Given the description of an element on the screen output the (x, y) to click on. 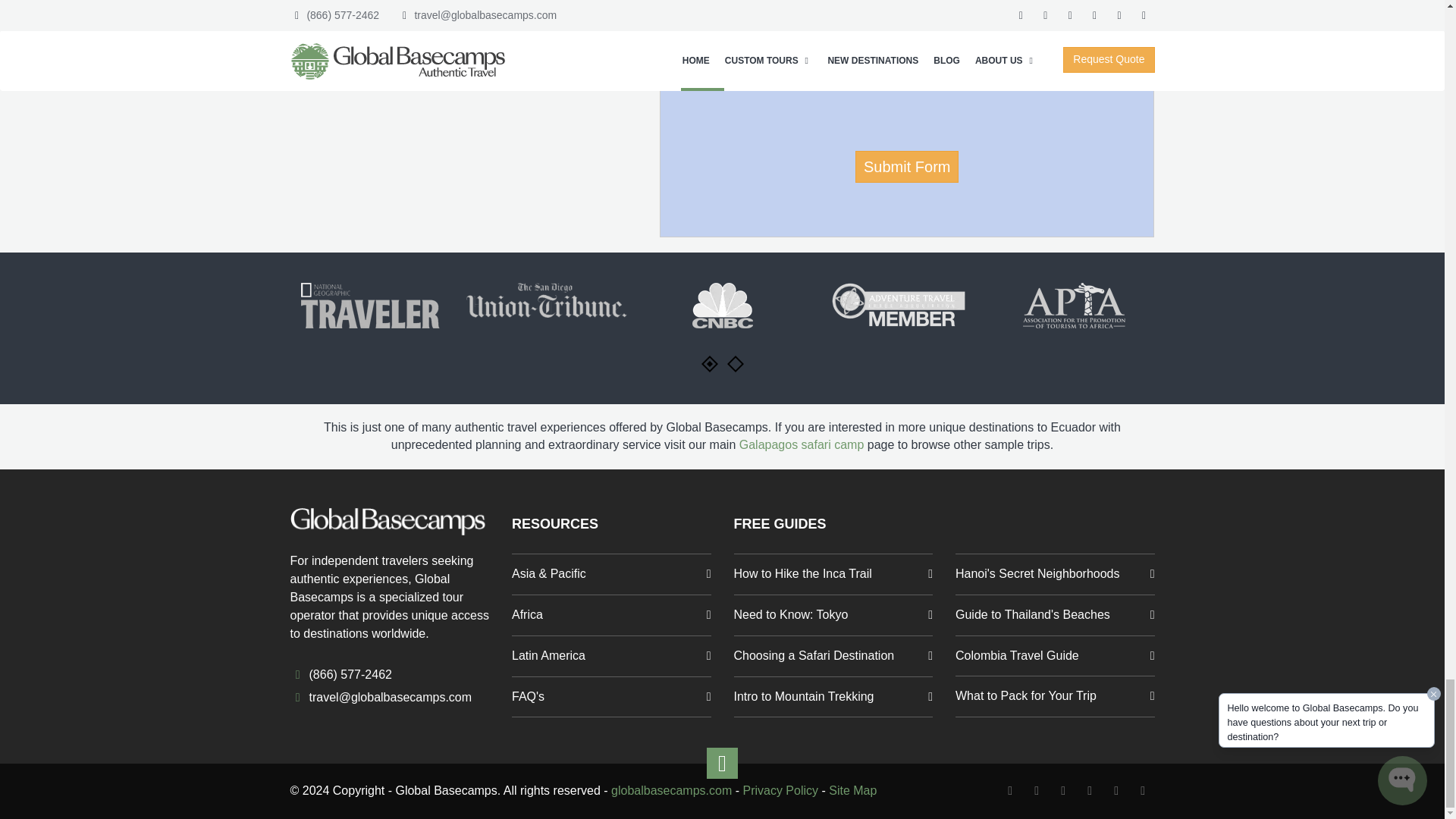
Hanoi's Secret Neighborhoods (1054, 574)
Colombia Travel Guide (1054, 656)
Choosing a Safari Destination (833, 696)
Need to Know: Tokyo (833, 615)
Galapagos safari camp (801, 444)
Traveler Guides, Tips, and Tricks for Latin America (611, 656)
Traveler Guides, Tips, and Tricks for Africa (611, 615)
Guide to Thailand's Beaches (1054, 615)
Choosing a Safari Destination (833, 656)
How to Hike the Inca Trail (833, 574)
What to Pack for Your Trip (1054, 696)
FAQs (611, 696)
